Given the description of an element on the screen output the (x, y) to click on. 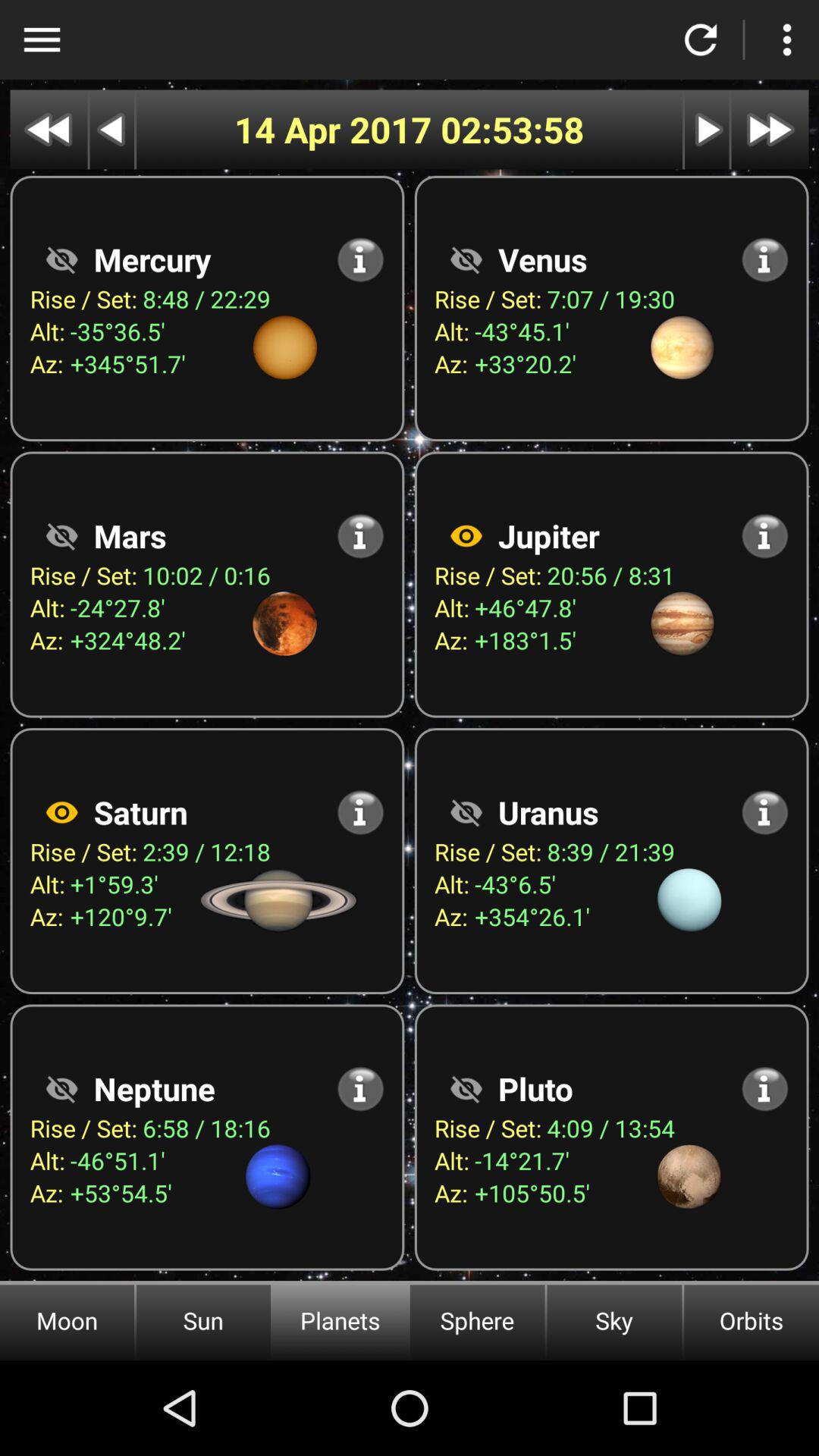
press to see mars (61, 536)
